Given the description of an element on the screen output the (x, y) to click on. 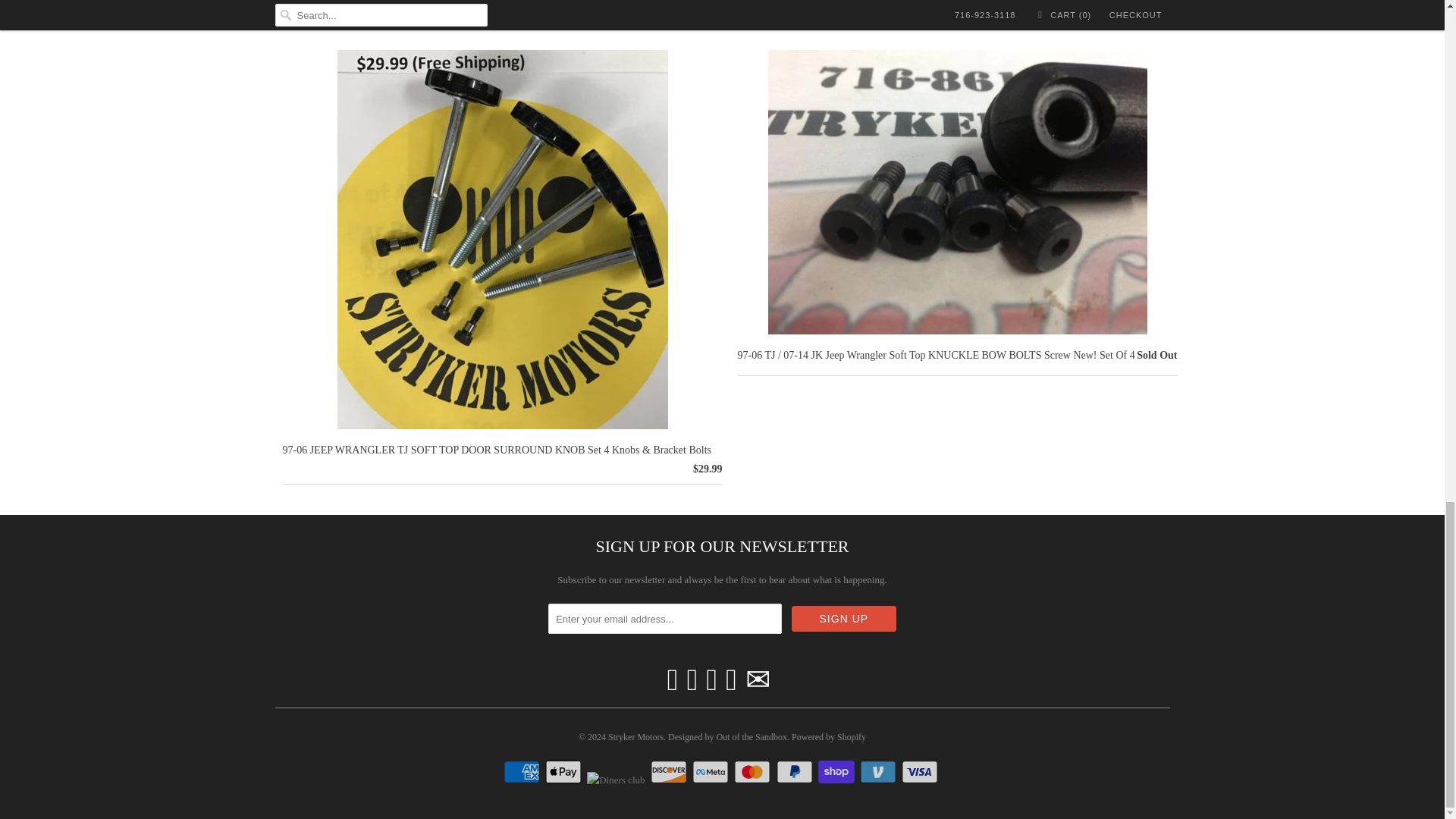
Sign Up (844, 618)
